Given the description of an element on the screen output the (x, y) to click on. 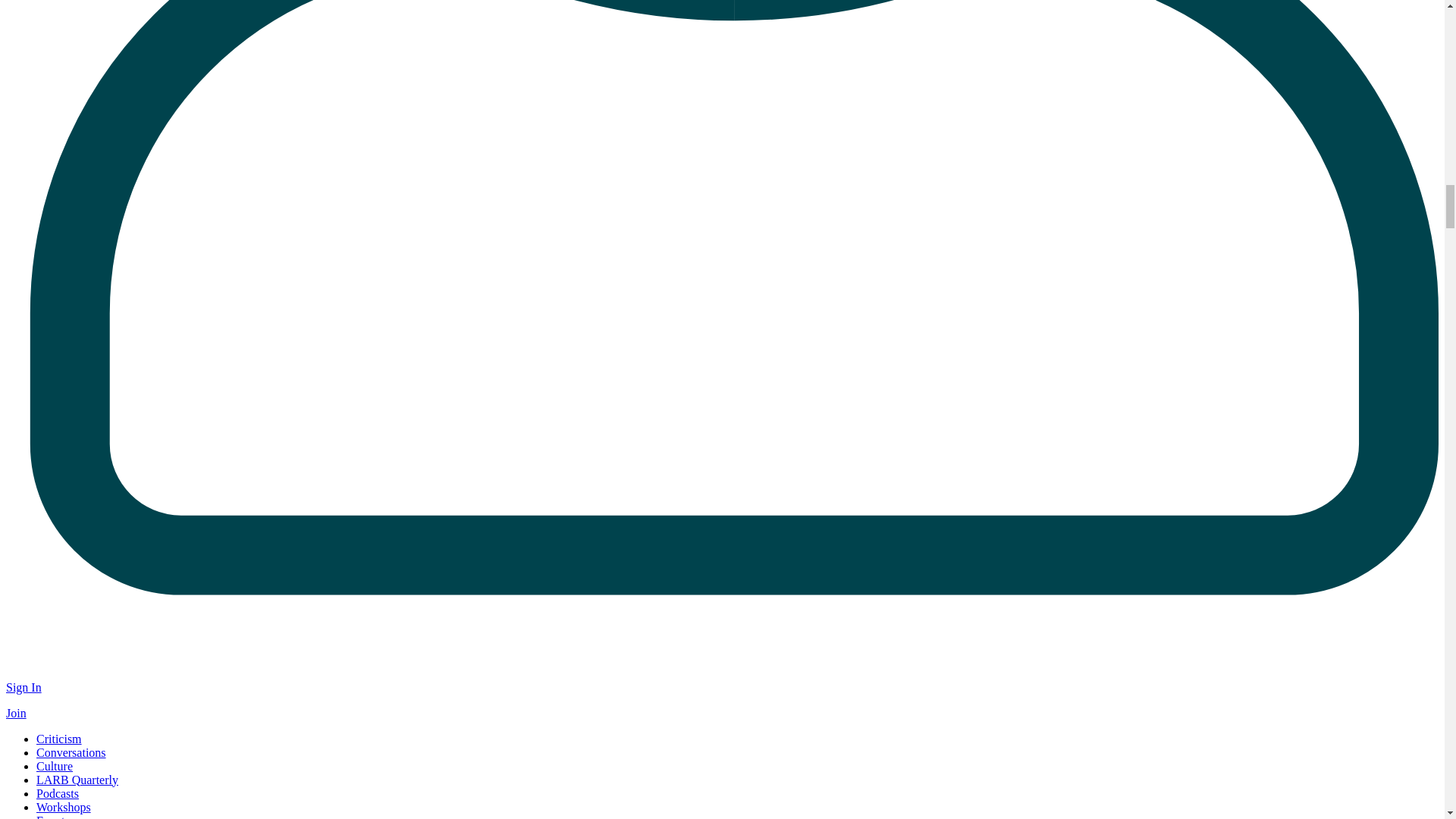
Conversations (71, 752)
Events (52, 816)
Podcasts (57, 793)
Criticism (58, 738)
LARB Quarterly (76, 779)
Workshops (63, 807)
Culture (54, 766)
Sign In (23, 686)
